Given the description of an element on the screen output the (x, y) to click on. 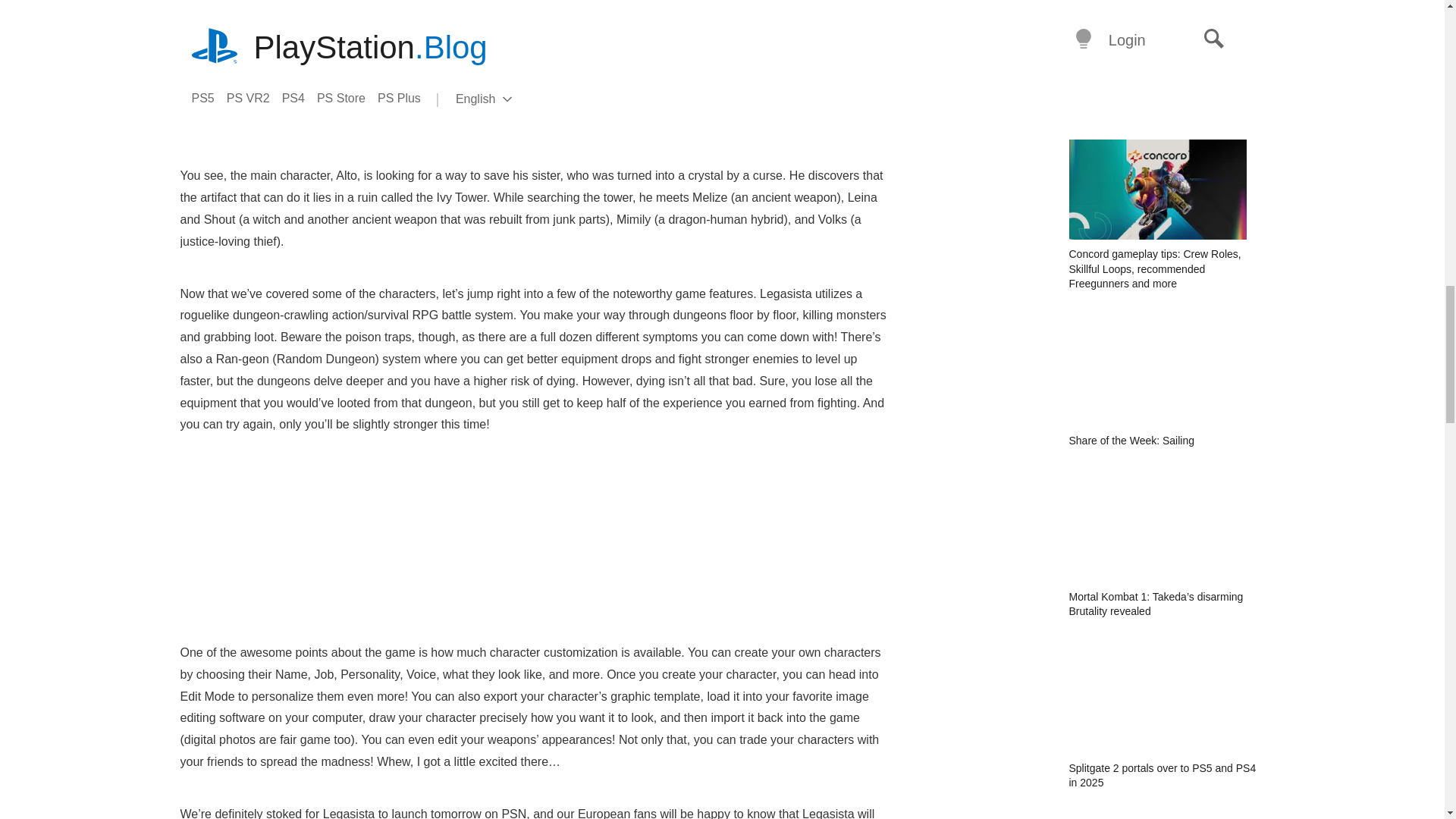
Legasista on PSN by PlayStation.Blog, on Flickr (655, 599)
Legasista on PSN by PlayStation.Blog, on Flickr (414, 599)
